Given the description of an element on the screen output the (x, y) to click on. 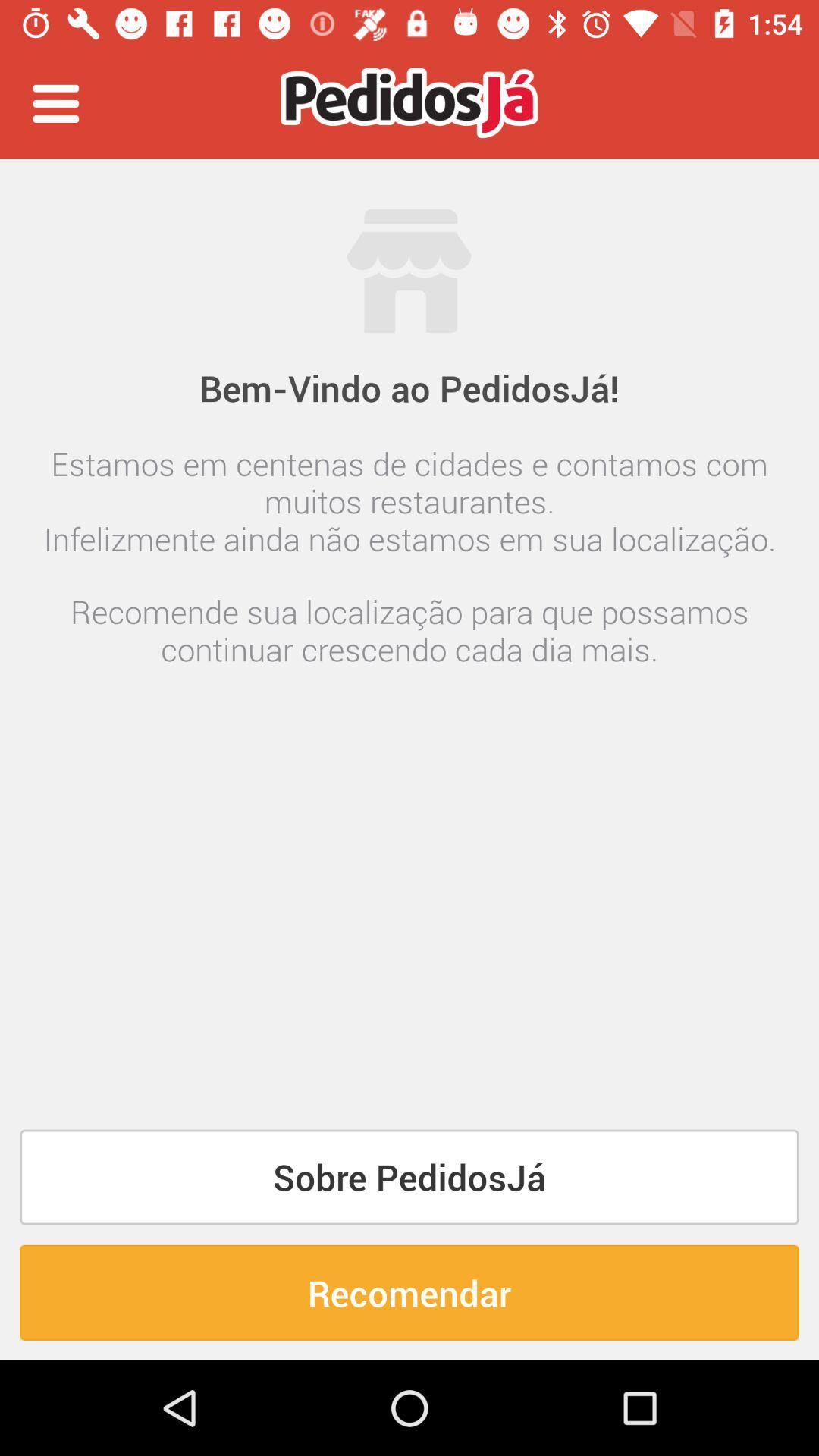
toggle menu options (55, 103)
